Given the description of an element on the screen output the (x, y) to click on. 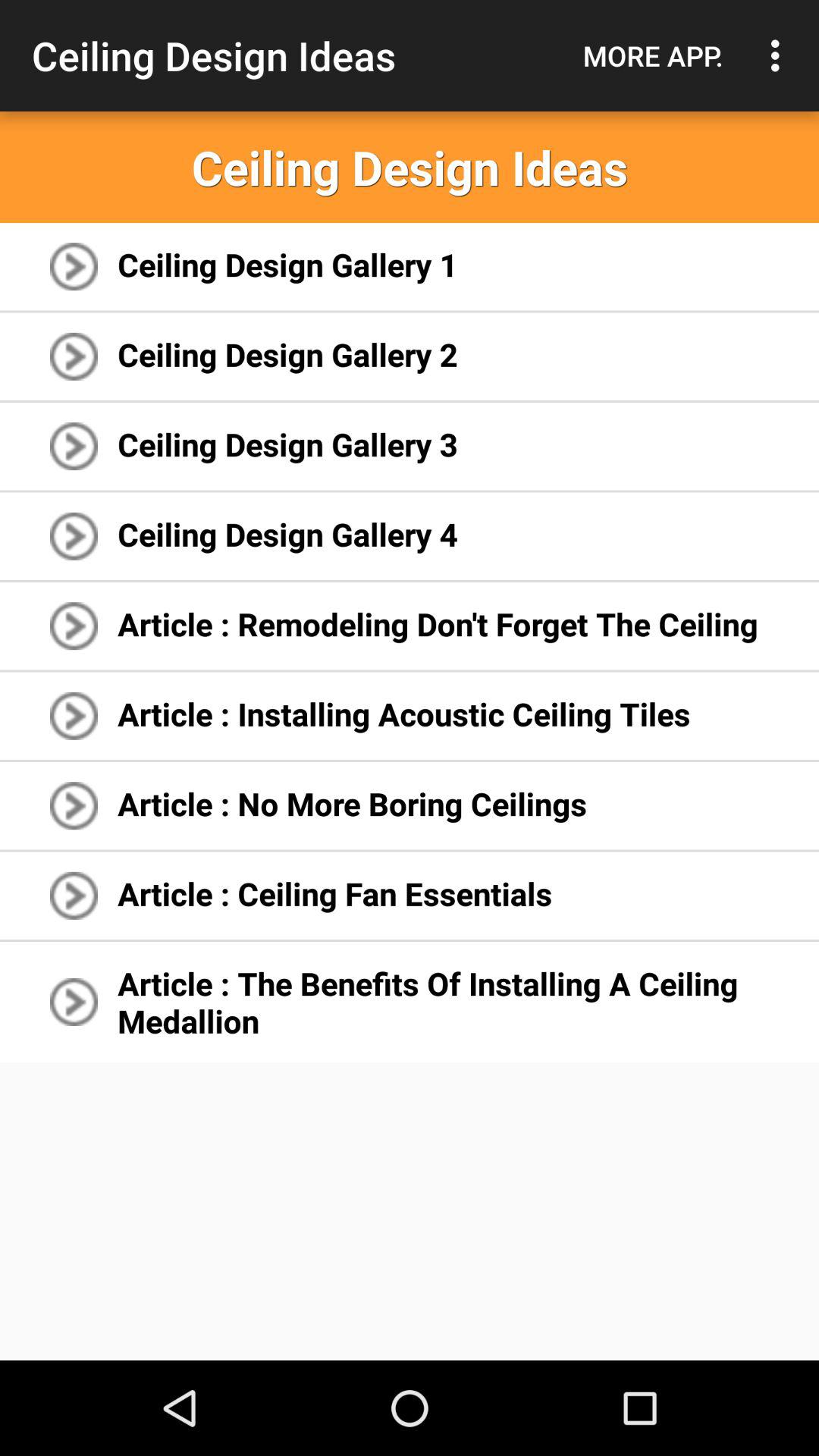
the icon left to ceiling design gallery 3 (73, 446)
7th right arrow icon of the page (73, 805)
click on the fourth arrow from bottom (73, 716)
click on fifth right arrow icon from top (73, 625)
